Given the description of an element on the screen output the (x, y) to click on. 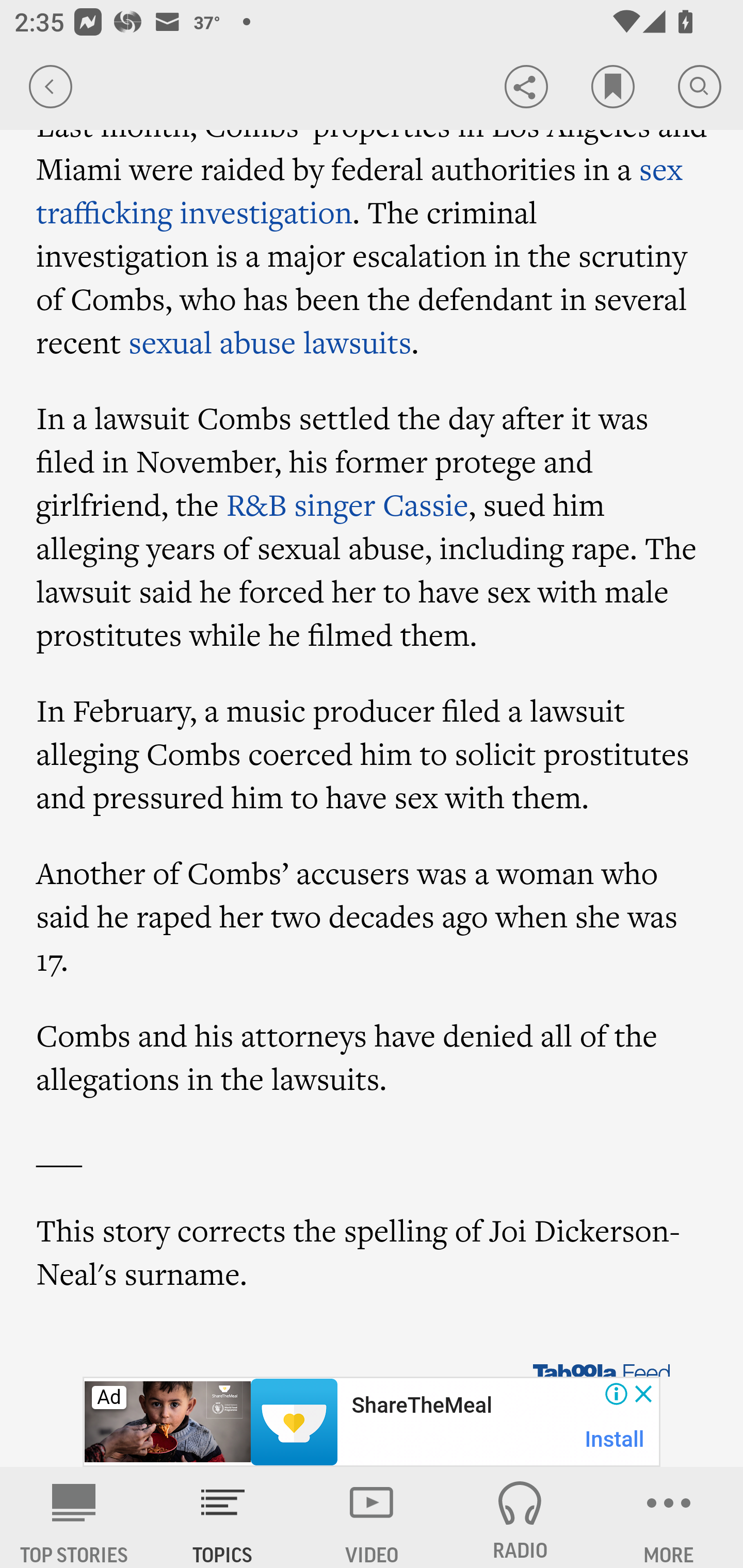
sex trafficking investigation (360, 190)
sexual abuse lawsuits (270, 341)
R&B singer Cassie (347, 504)
ShareTheMeal (420, 1405)
Install (614, 1438)
AP News TOP STORIES (74, 1517)
TOPICS (222, 1517)
VIDEO (371, 1517)
RADIO (519, 1517)
MORE (668, 1517)
